Given the description of an element on the screen output the (x, y) to click on. 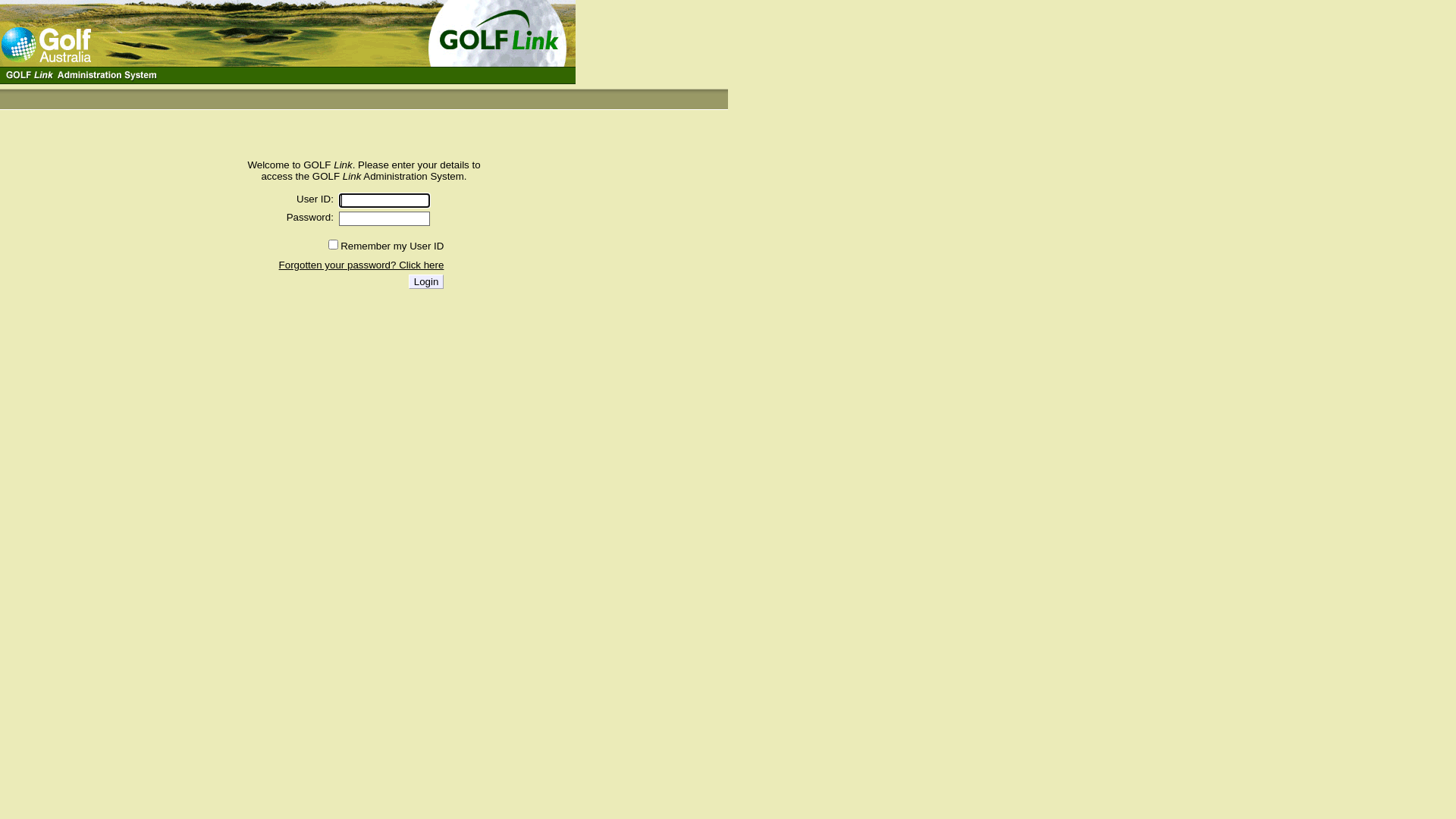
Login Element type: text (426, 281)
Forgotten your password? Click here Element type: text (361, 264)
